Given the description of an element on the screen output the (x, y) to click on. 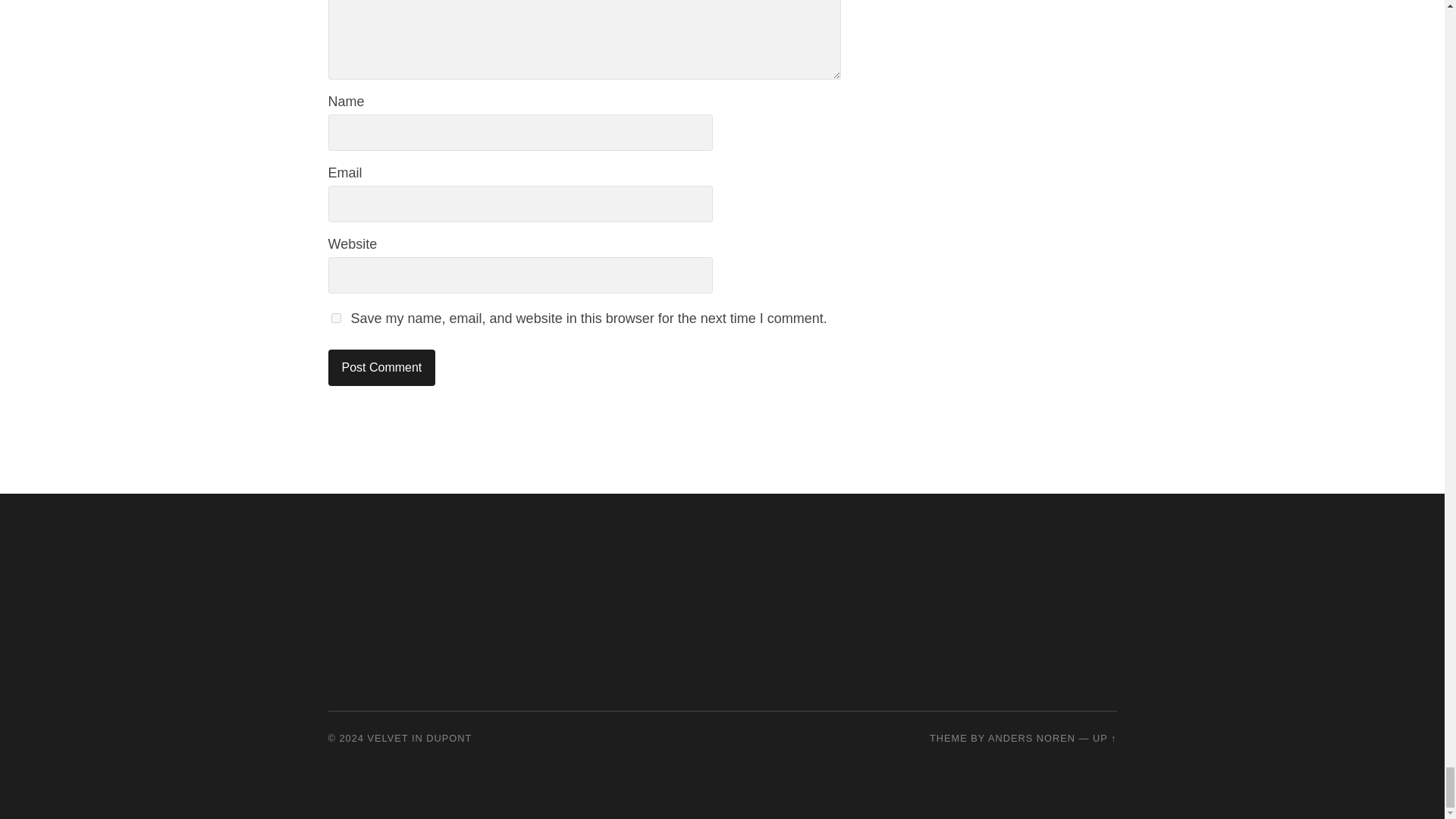
VELVET IN DUPONT (419, 737)
Post Comment (381, 367)
yes (335, 317)
ANDERS NOREN (1031, 737)
Post Comment (381, 367)
